Given the description of an element on the screen output the (x, y) to click on. 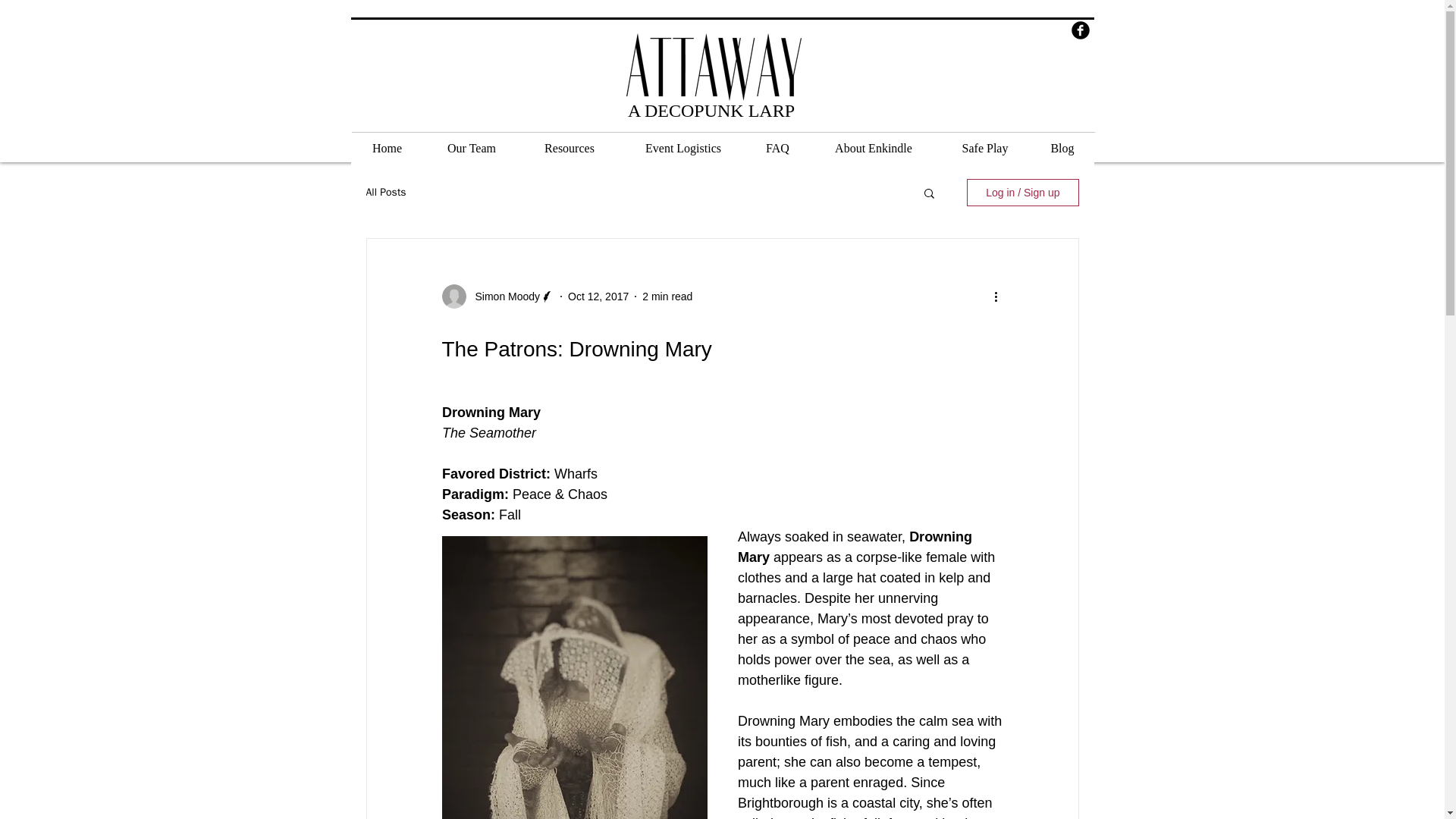
Blog (1062, 152)
Event Logistics (682, 152)
2 min read (667, 296)
Oct 12, 2017 (597, 296)
FAQ (778, 152)
All Posts (385, 192)
Our Team (471, 152)
Simon Moody (502, 296)
Home (386, 152)
Resources (569, 152)
About Enkindle (873, 152)
Safe Play (984, 152)
